Given the description of an element on the screen output the (x, y) to click on. 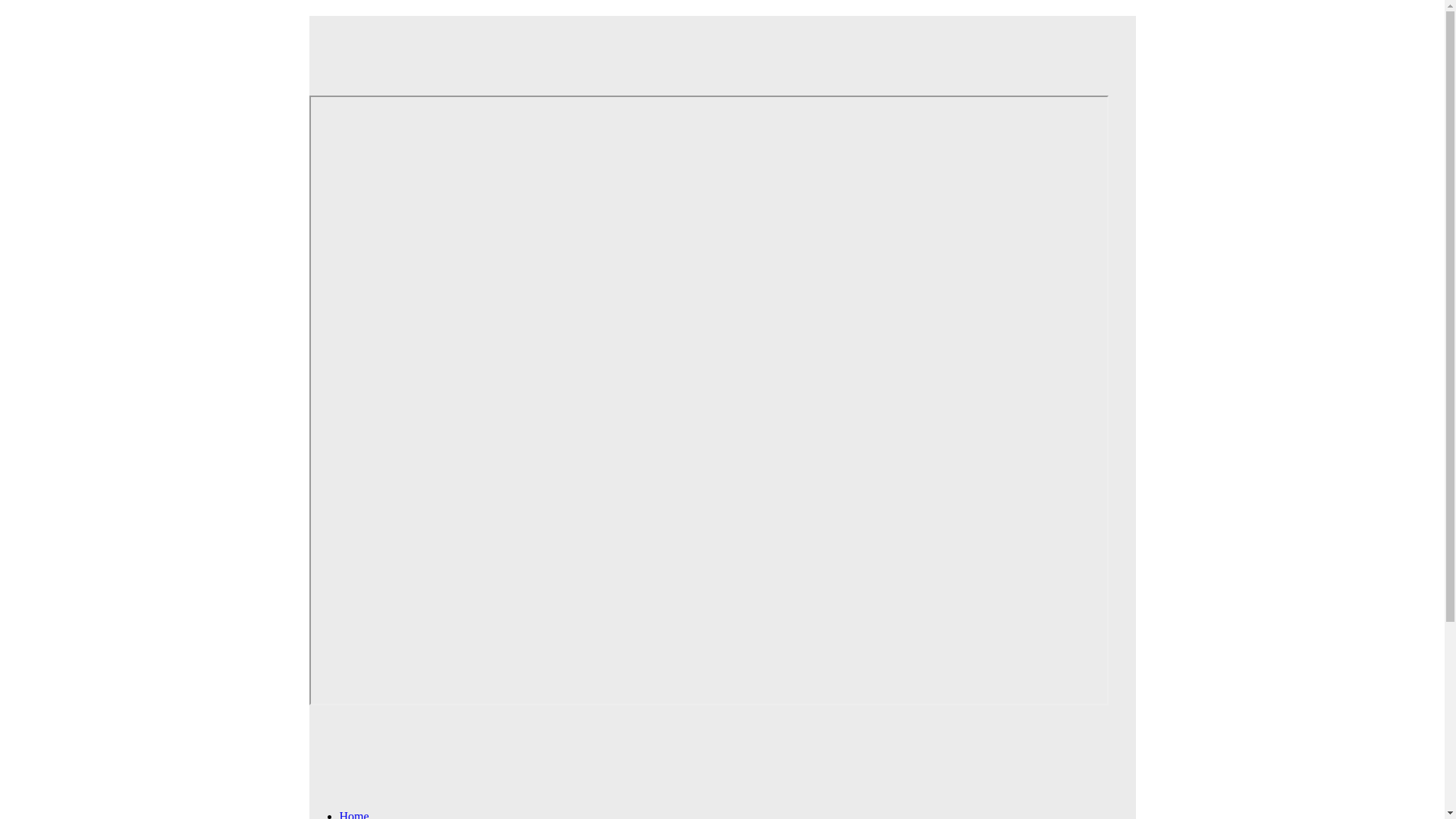
Web Hosting from Just Host Element type: text (707, 44)
